Given the description of an element on the screen output the (x, y) to click on. 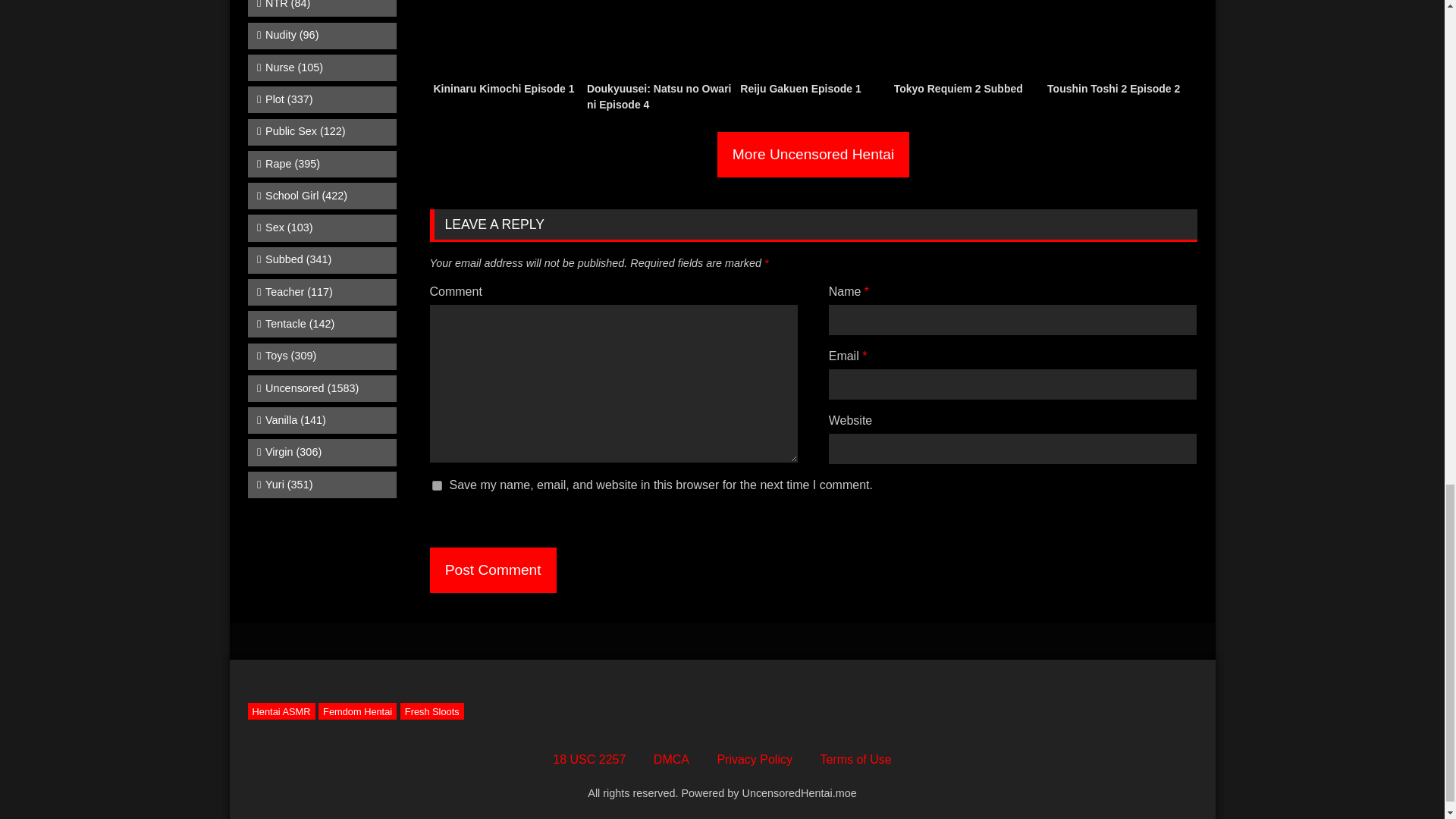
yes (437, 485)
Post Comment (492, 569)
